Given the description of an element on the screen output the (x, y) to click on. 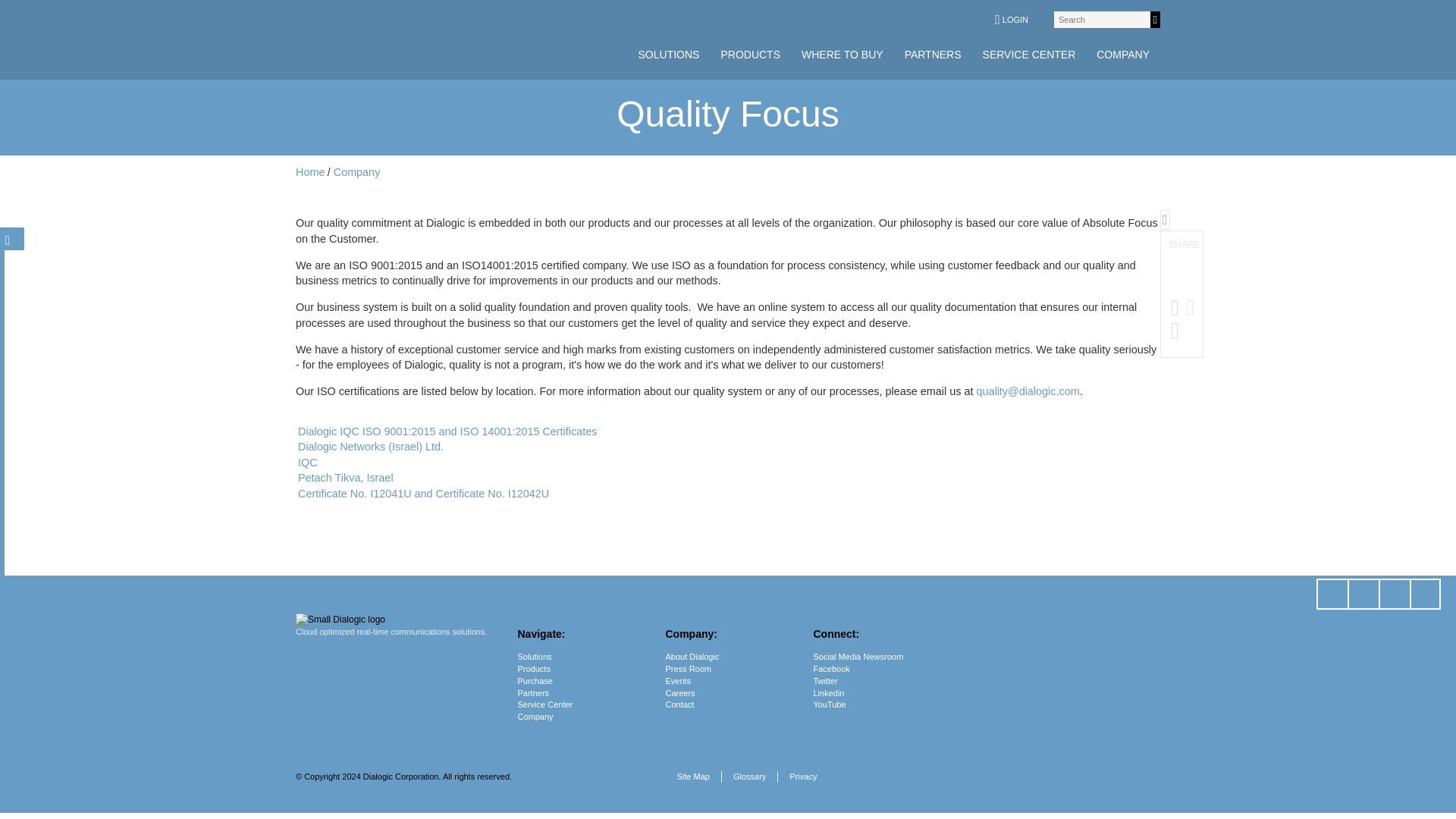
Home (309, 172)
COMPANY (1123, 55)
SERVICE CENTER (1029, 55)
Company (356, 172)
WHERE TO BUY (841, 55)
PARTNERS (932, 55)
PRODUCTS (750, 55)
LOGIN (1010, 19)
SOLUTIONS (668, 55)
